Given the description of an element on the screen output the (x, y) to click on. 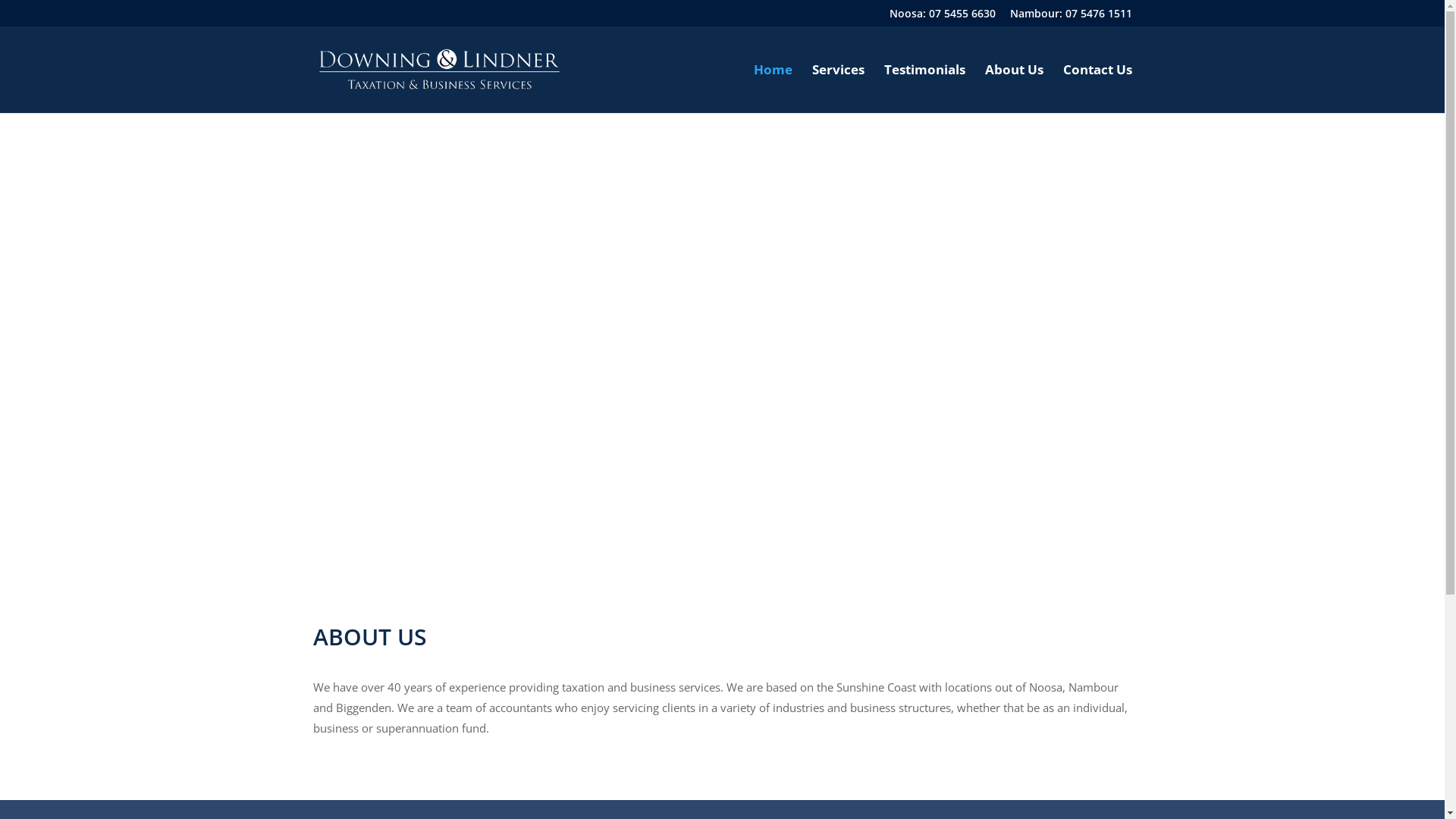
Contact Us Element type: text (1097, 88)
Testimonials Element type: text (924, 88)
Home Element type: text (772, 88)
About Us Element type: text (1013, 88)
Noosa: 07 5455 6630 Element type: text (941, 16)
Services Element type: text (837, 88)
Nambour: 07 5476 1511 Element type: text (1071, 16)
